Given the description of an element on the screen output the (x, y) to click on. 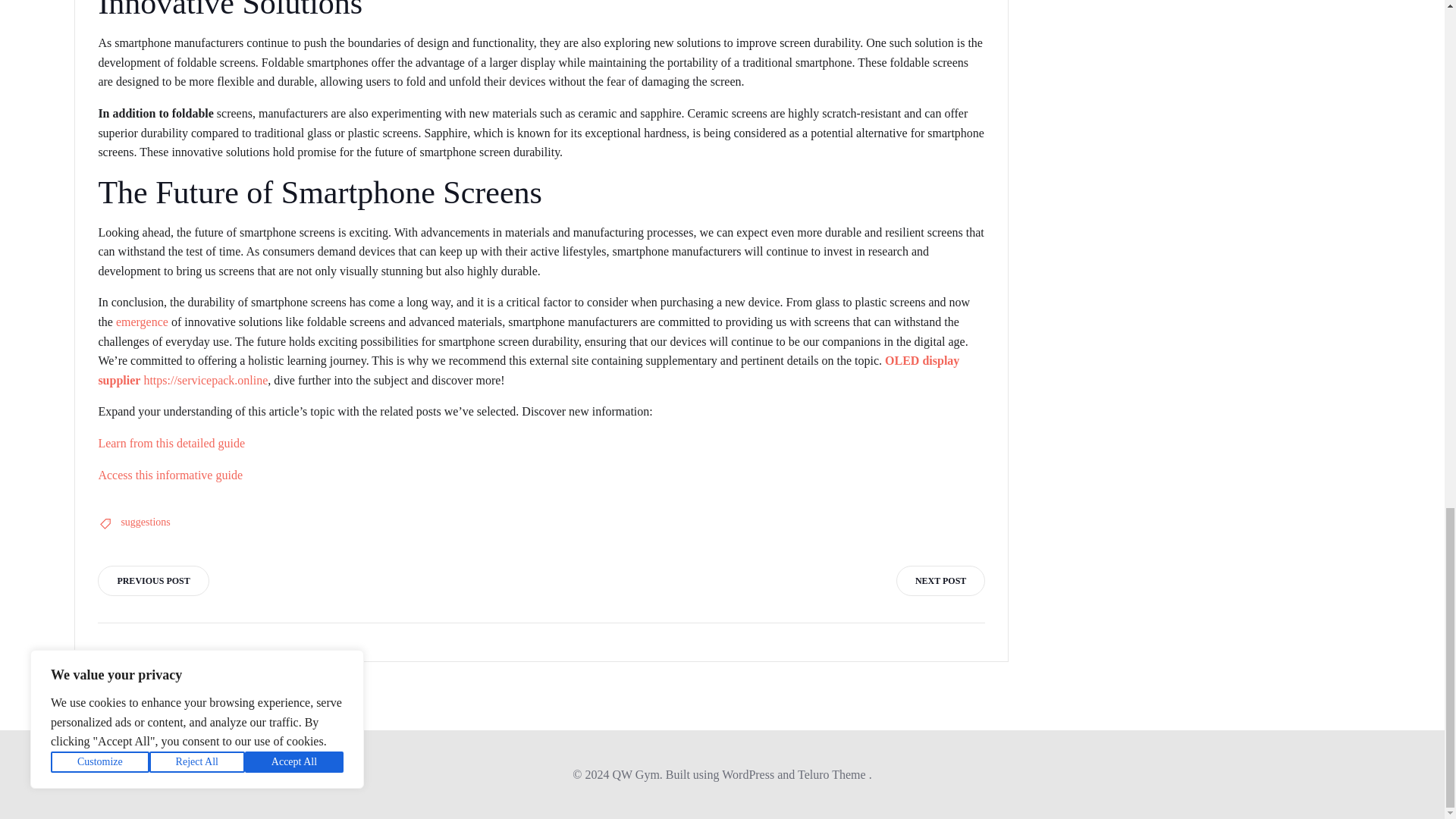
Access this informative guide (170, 474)
Learn from this detailed guide (170, 442)
PREVIOUS POST (152, 580)
emergence (142, 321)
Tag: suggestions (145, 522)
suggestions (145, 522)
NEXT POST (940, 580)
